Given the description of an element on the screen output the (x, y) to click on. 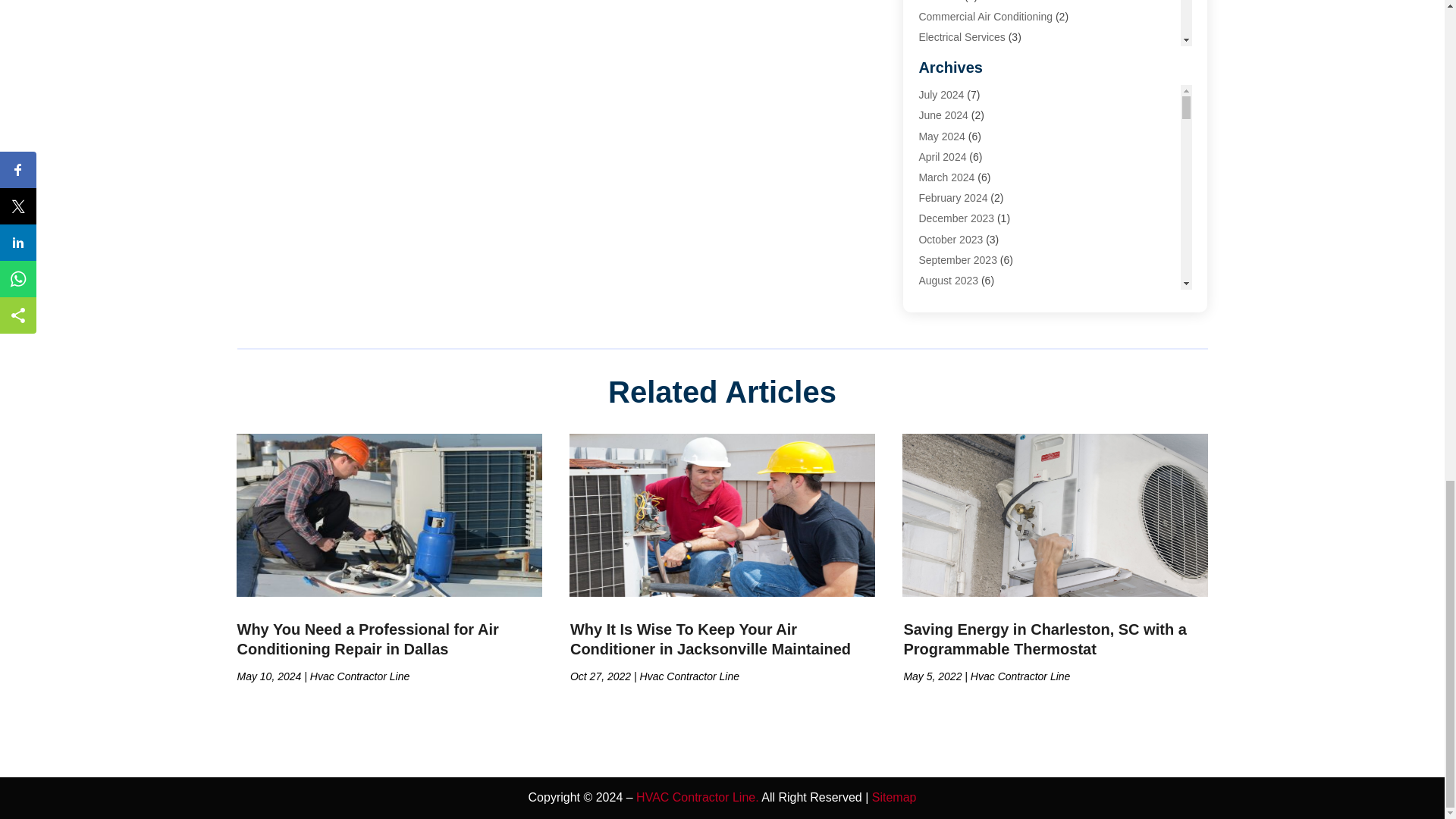
Heating And Air Conditioning (985, 140)
Heating And Cooling (966, 160)
Heating Contractor (962, 181)
Furnace Repair (954, 57)
HVAC (932, 223)
Commercial Air Conditioning (985, 16)
Heating (936, 78)
Business (939, 1)
Electrical Services (961, 37)
